Given the description of an element on the screen output the (x, y) to click on. 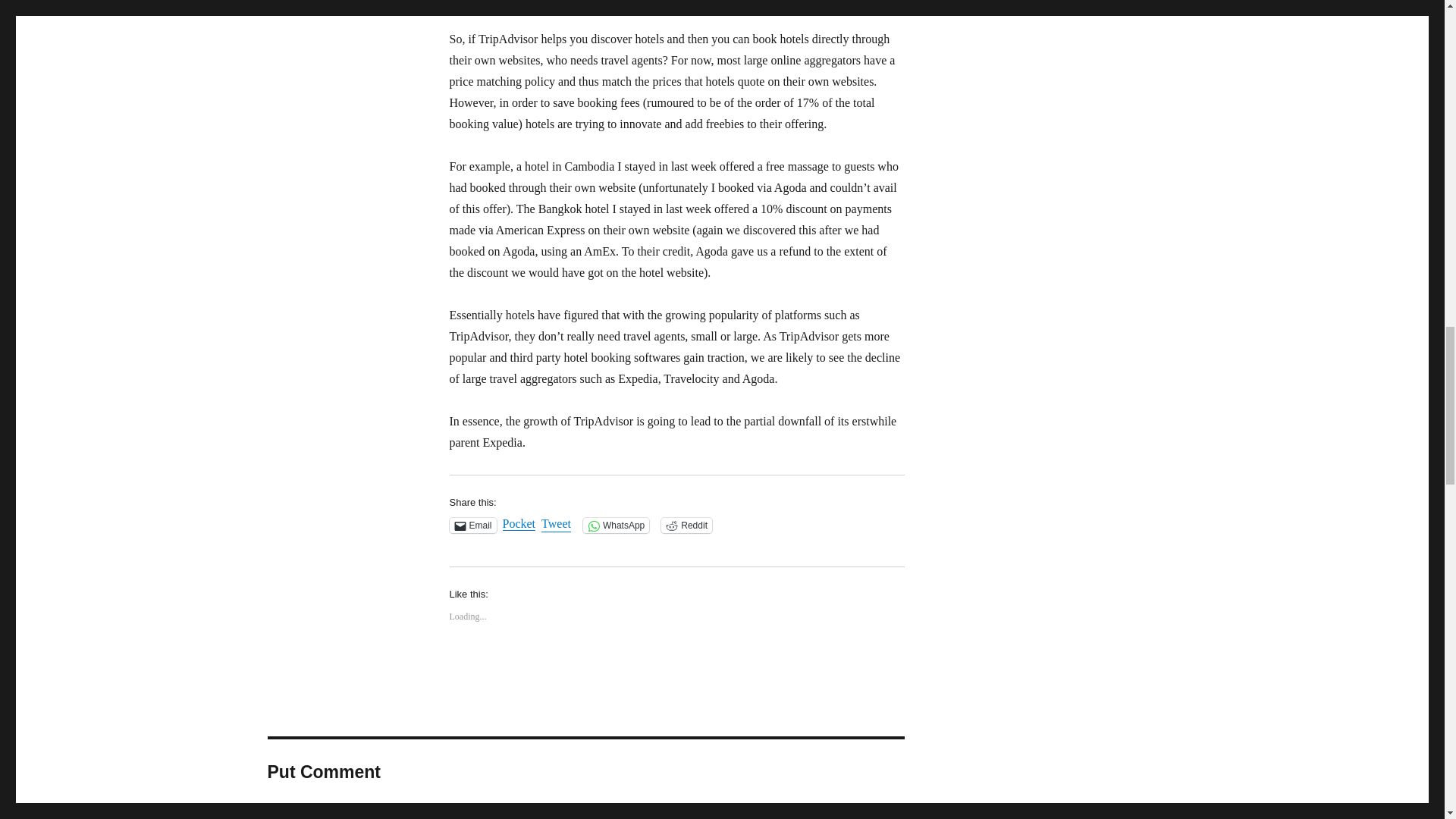
Email (472, 525)
Click to email a link to a friend (472, 525)
Click to share on WhatsApp (616, 525)
Tweet (555, 524)
Comment Form (585, 811)
WhatsApp (616, 525)
Click to share on Reddit (686, 525)
Reddit (686, 525)
Pocket (518, 522)
